Given the description of an element on the screen output the (x, y) to click on. 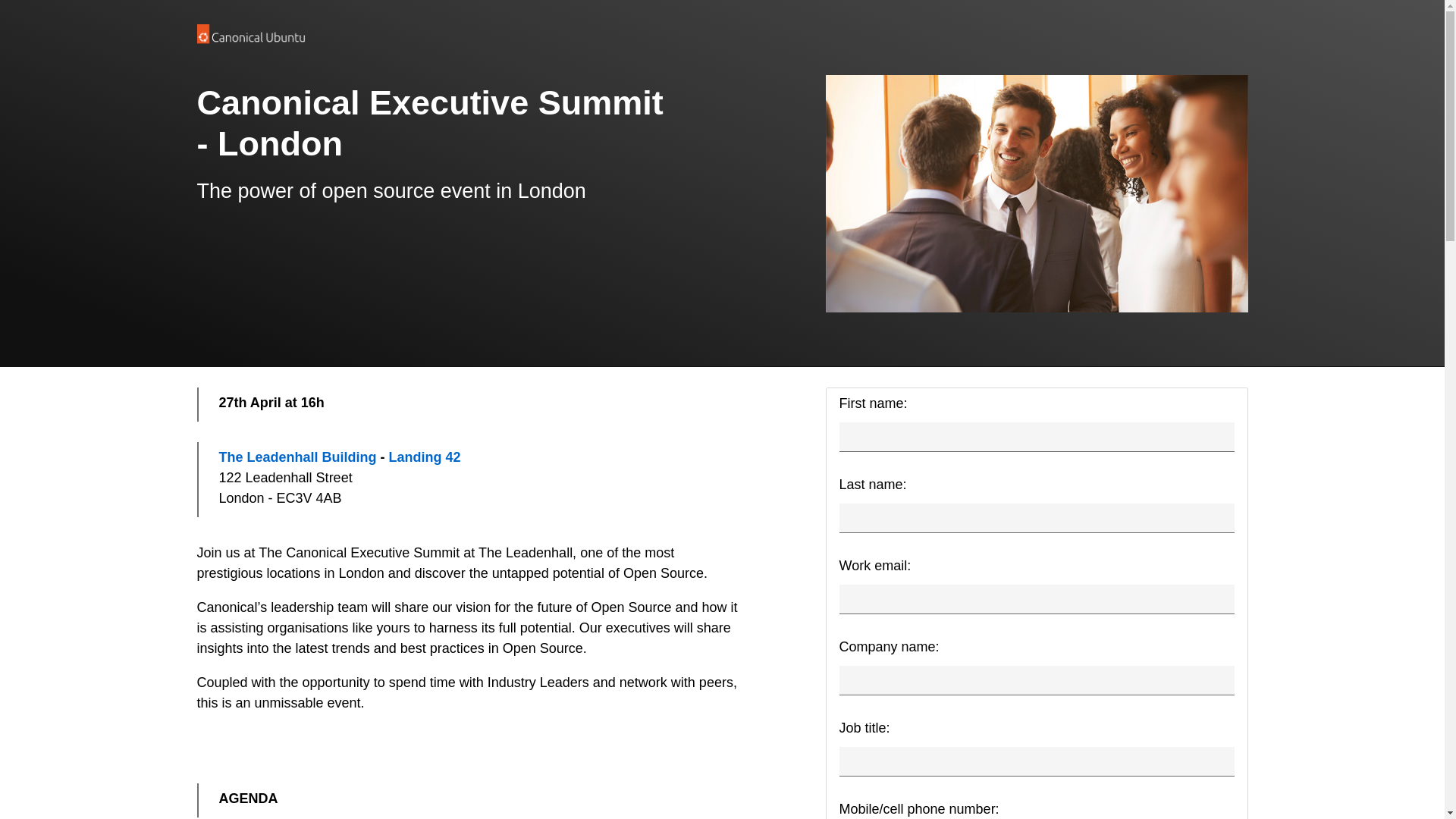
Landing 42 (424, 457)
The Leadenhall Building (296, 457)
